Given the description of an element on the screen output the (x, y) to click on. 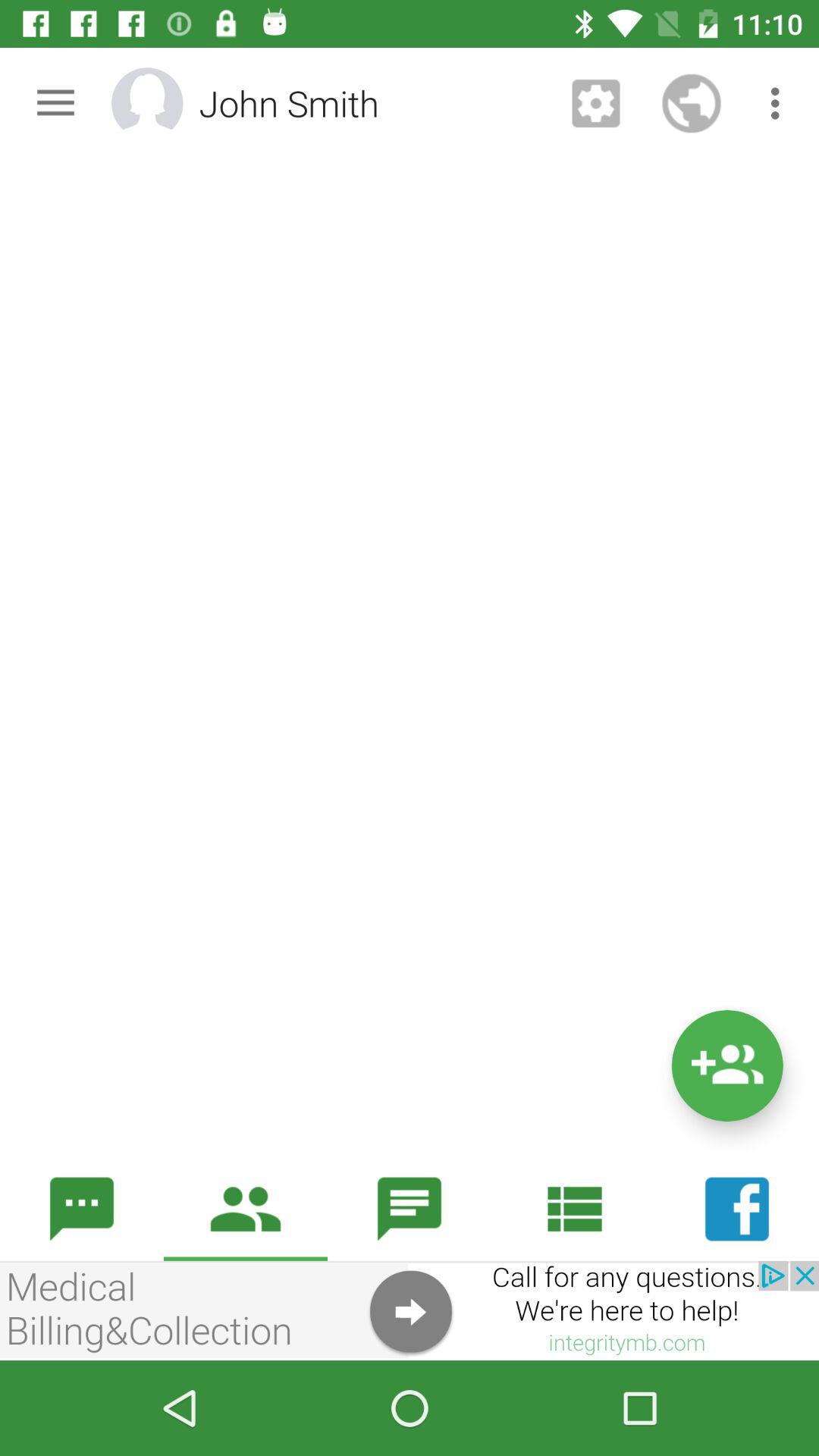
add photograph (166, 103)
